Given the description of an element on the screen output the (x, y) to click on. 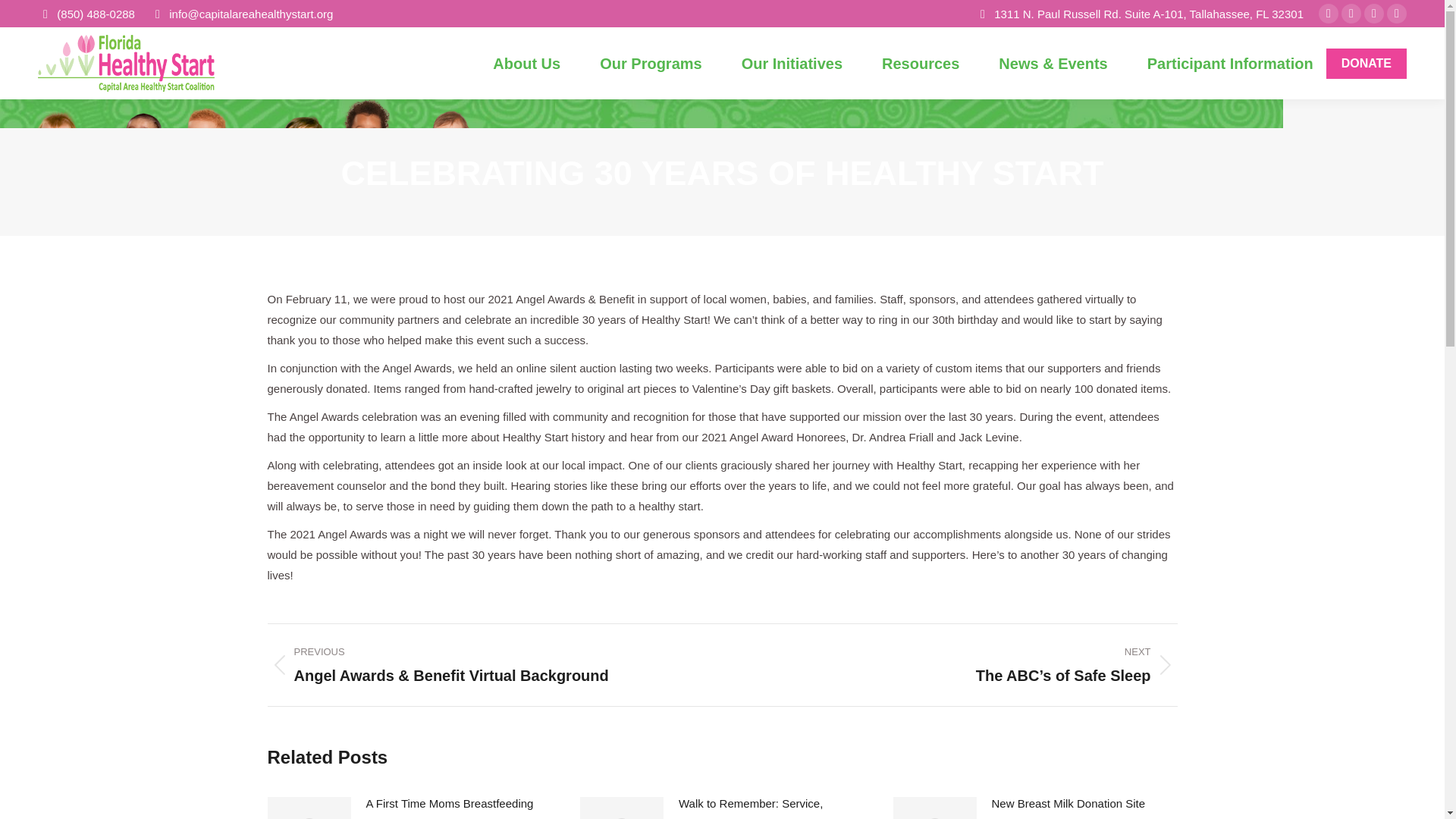
Our Programs (650, 62)
Facebook page opens in new window (1328, 13)
Linkedin page opens in new window (1396, 13)
Our Initiatives (791, 62)
Facebook page opens in new window (1328, 13)
Resources (920, 62)
Instagram page opens in new window (1350, 13)
About Us (526, 62)
YouTube page opens in new window (1374, 13)
Instagram page opens in new window (1350, 13)
